Given the description of an element on the screen output the (x, y) to click on. 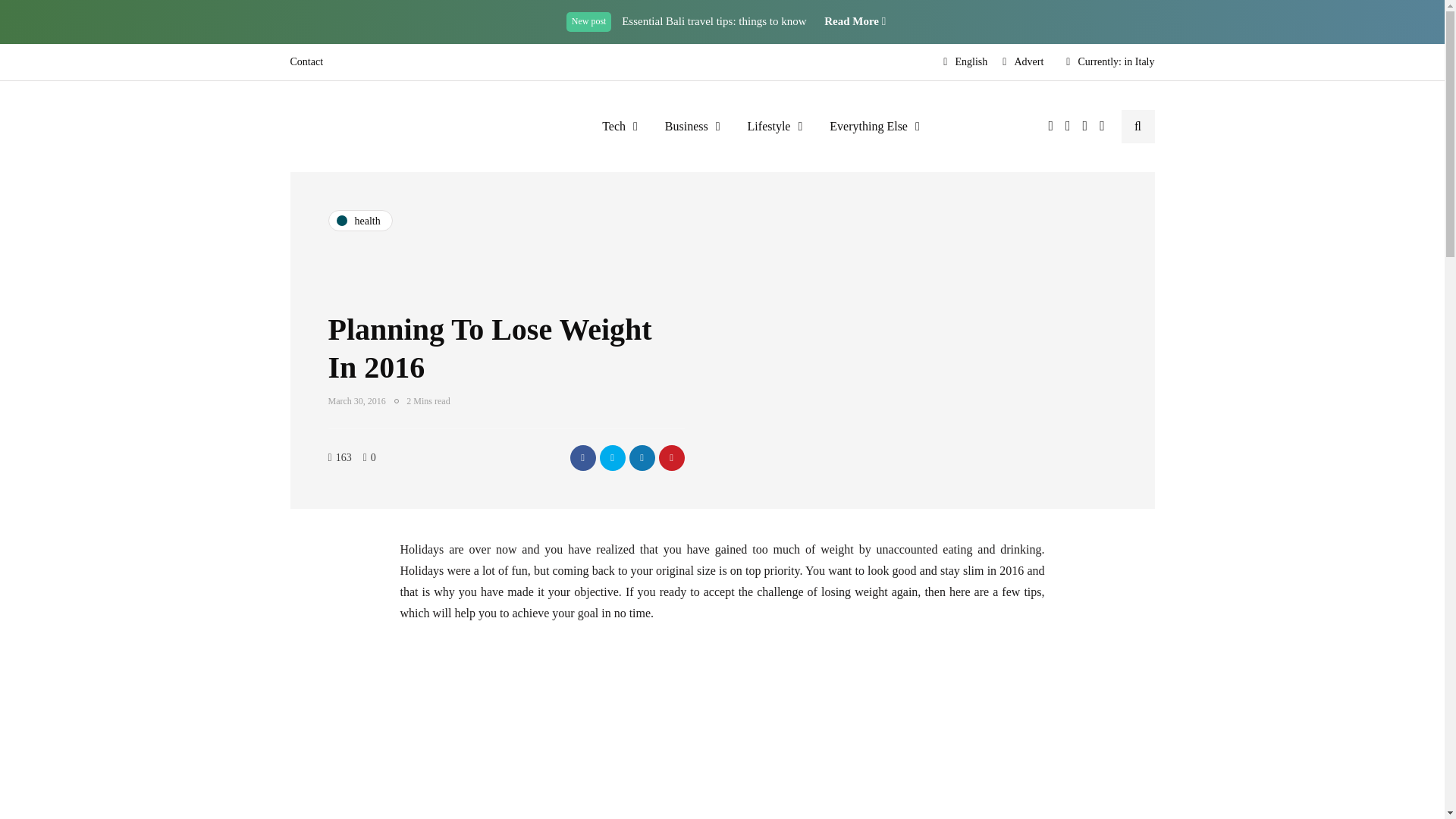
Everything Else (874, 126)
Tech (619, 126)
Read More (854, 21)
Business (691, 126)
Share with LinkedIn (641, 457)
Lifestyle (774, 126)
Pin this (671, 457)
Tweet this (611, 457)
health (359, 219)
Share with Facebook (582, 457)
